Given the description of an element on the screen output the (x, y) to click on. 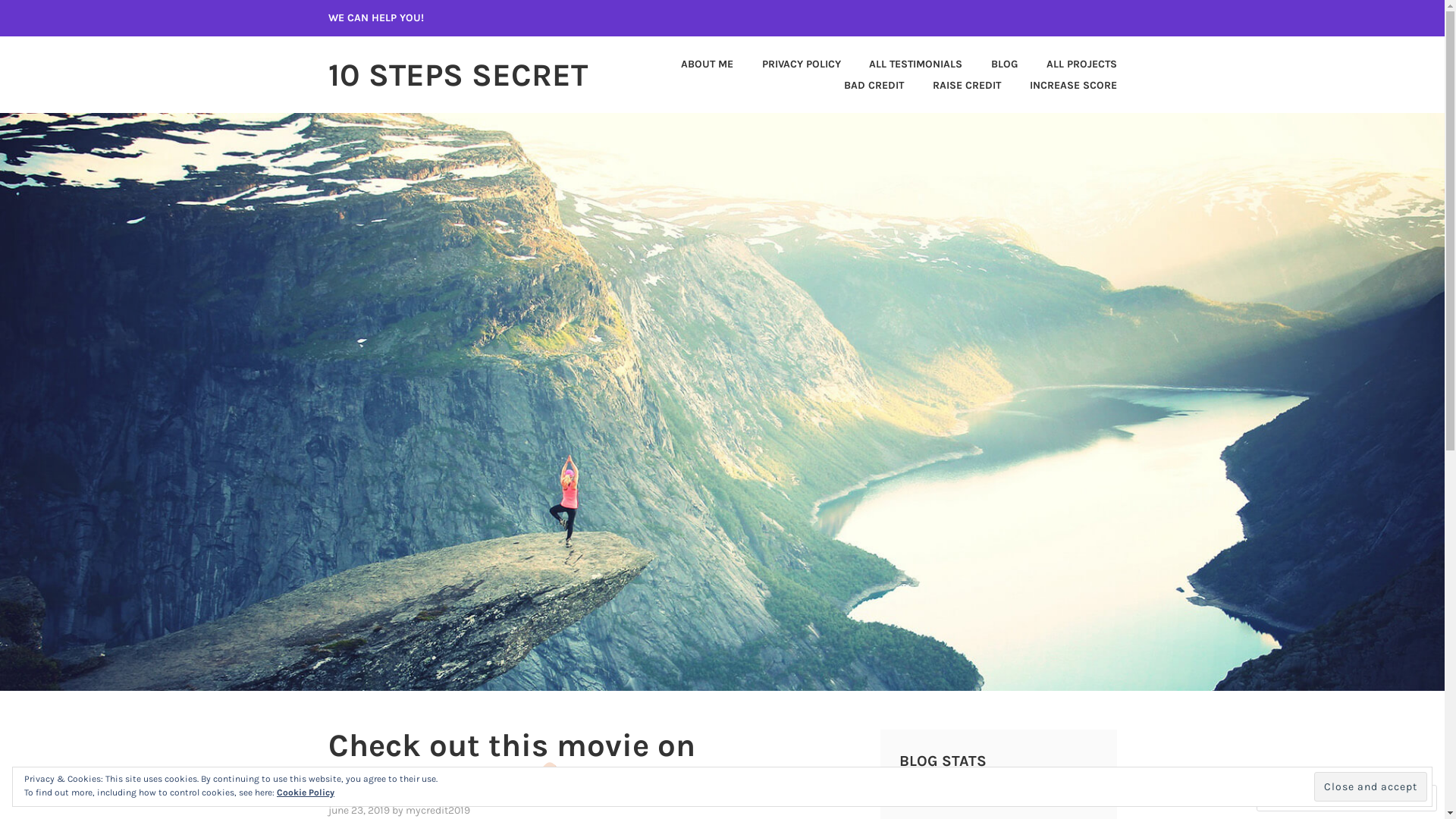
ABOUT ME Element type: text (694, 64)
PRIVACY POLICY Element type: text (788, 64)
june 23, 2019 Element type: text (358, 809)
Follow Element type: text (1373, 797)
BLOG Element type: text (991, 64)
ALL TESTIMONIALS Element type: text (903, 64)
Comment Element type: text (1297, 797)
Cookie Policy Element type: text (305, 792)
BAD CREDIT Element type: text (861, 85)
ALL PROJECTS Element type: text (1068, 64)
Close and accept Element type: text (1370, 786)
10 STEPS SECRET Element type: text (456, 75)
RAISE CREDIT Element type: text (953, 85)
mycredit2019 Element type: text (436, 809)
INCREASE SCORE Element type: text (1060, 85)
